Given the description of an element on the screen output the (x, y) to click on. 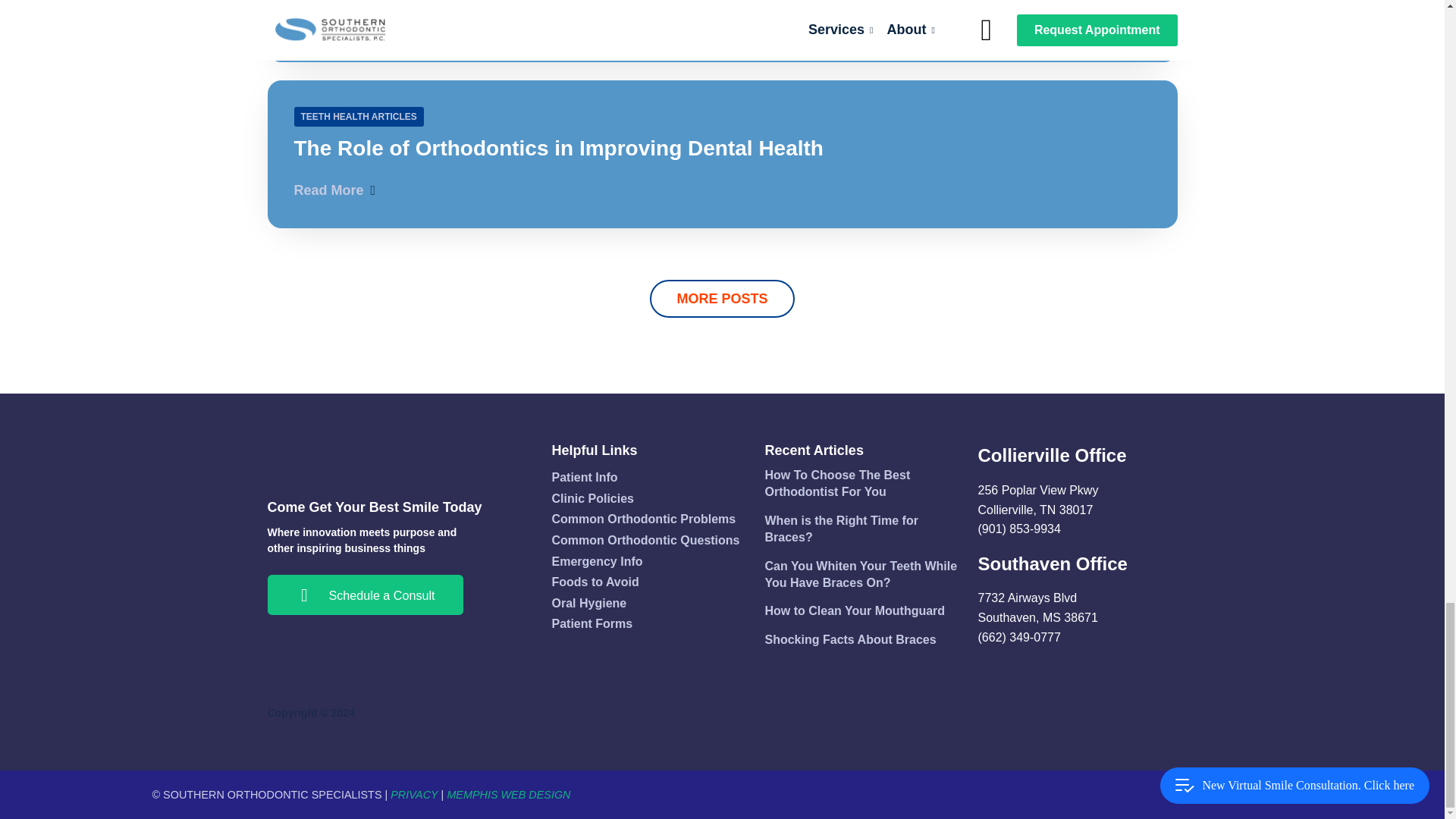
MORE POSTS (721, 298)
Clinic Policies (651, 498)
Emergency Info (651, 560)
Foods to Avoid (651, 581)
Common Orthodontic Questions (651, 540)
Schedule a Consult (364, 594)
Patient Info (721, 31)
Patient Forms (651, 477)
Common Orthodontic Problems (651, 623)
Oral Hygiene (651, 518)
